Given the description of an element on the screen output the (x, y) to click on. 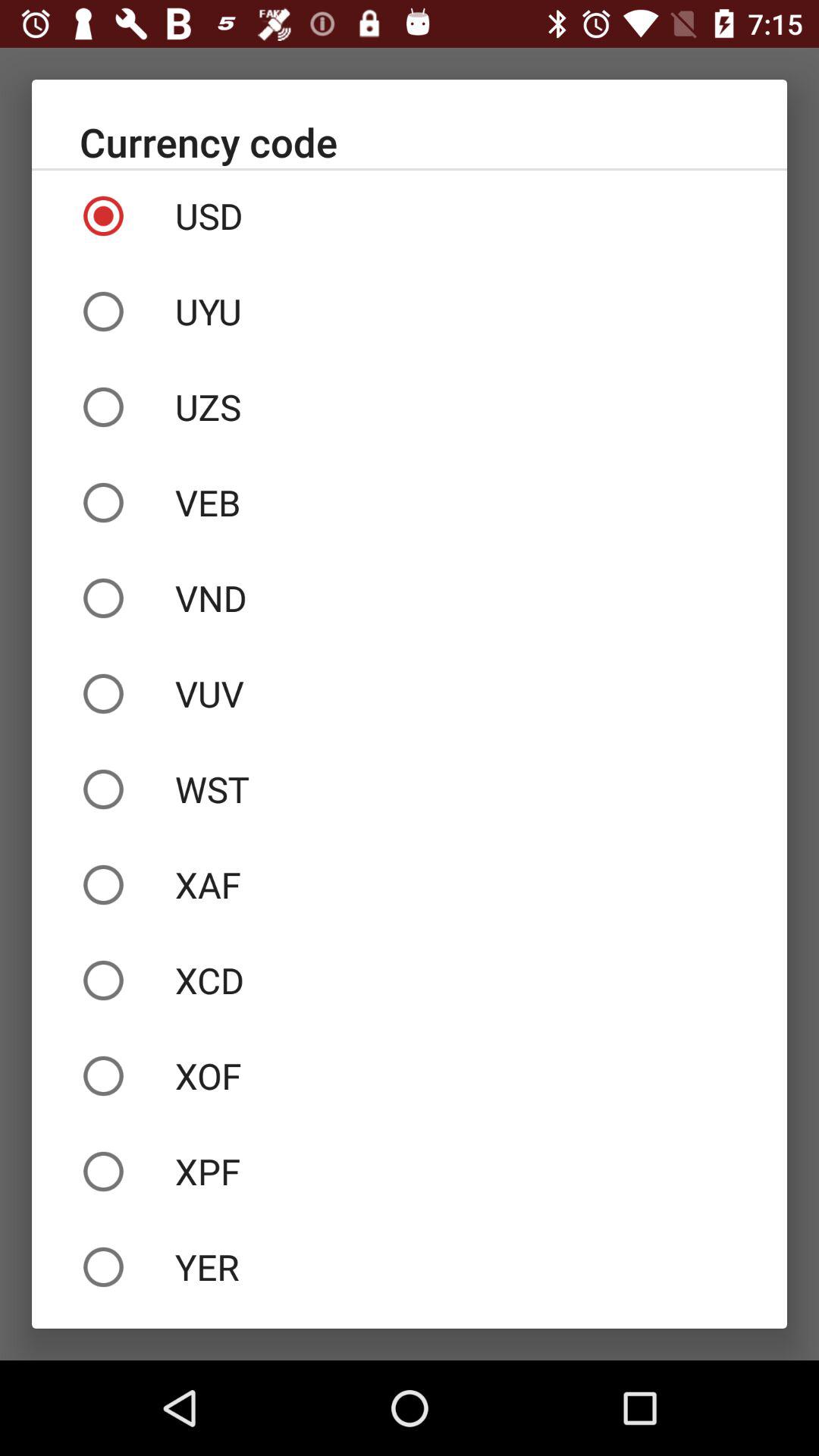
select usd icon (409, 215)
